Given the description of an element on the screen output the (x, y) to click on. 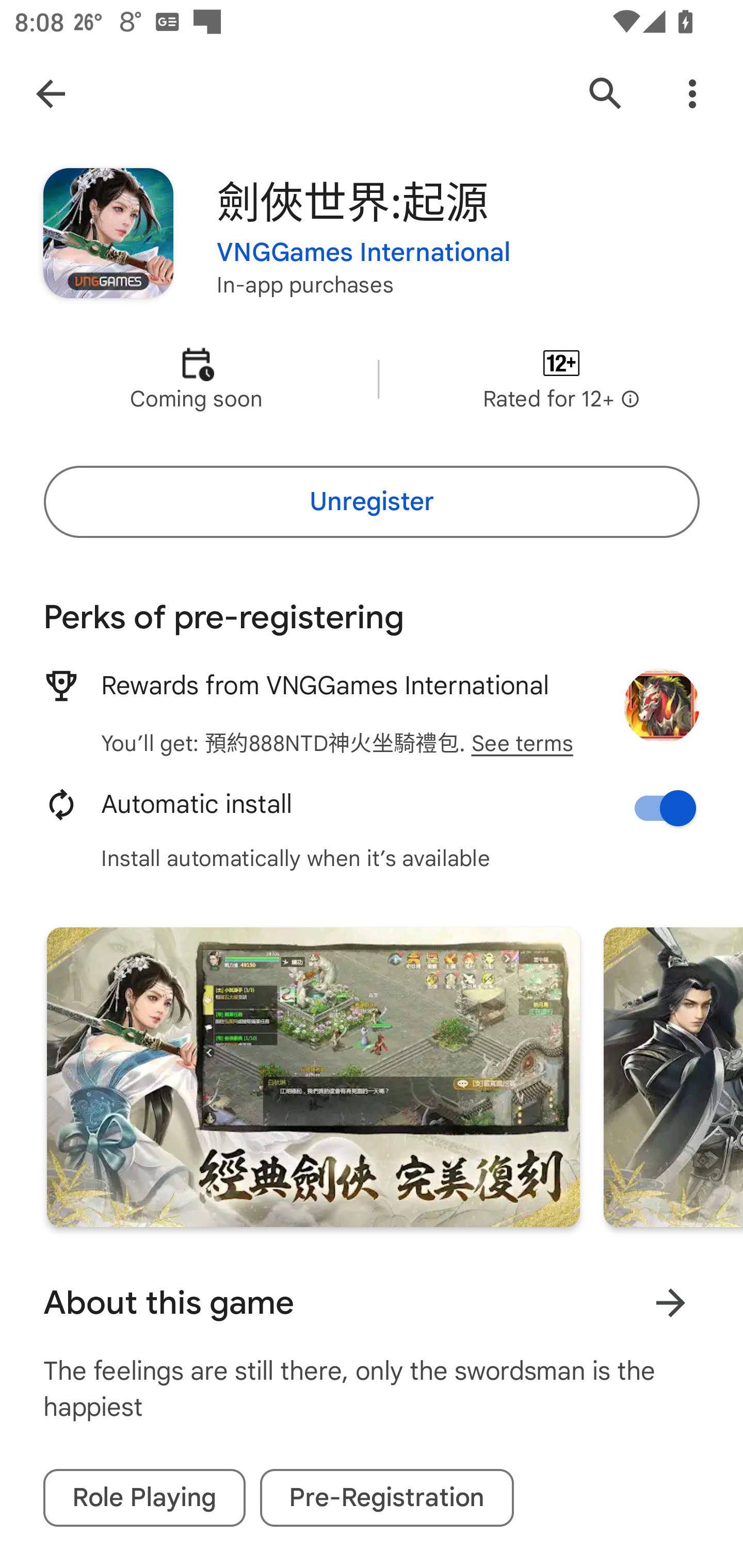
Navigate up (50, 93)
Search Google Play (605, 93)
More Options (692, 93)
VNGGames International (363, 253)
Content rating Rated for 12+ (561, 379)
Unregister (371, 501)
Screenshot "1" of "5" (313, 1076)
Screenshot "2" of "5" (673, 1076)
About this game Learn more About this game (371, 1302)
Learn more About this game (670, 1302)
Role Playing tag (144, 1498)
Pre-Registration tag (387, 1498)
